Given the description of an element on the screen output the (x, y) to click on. 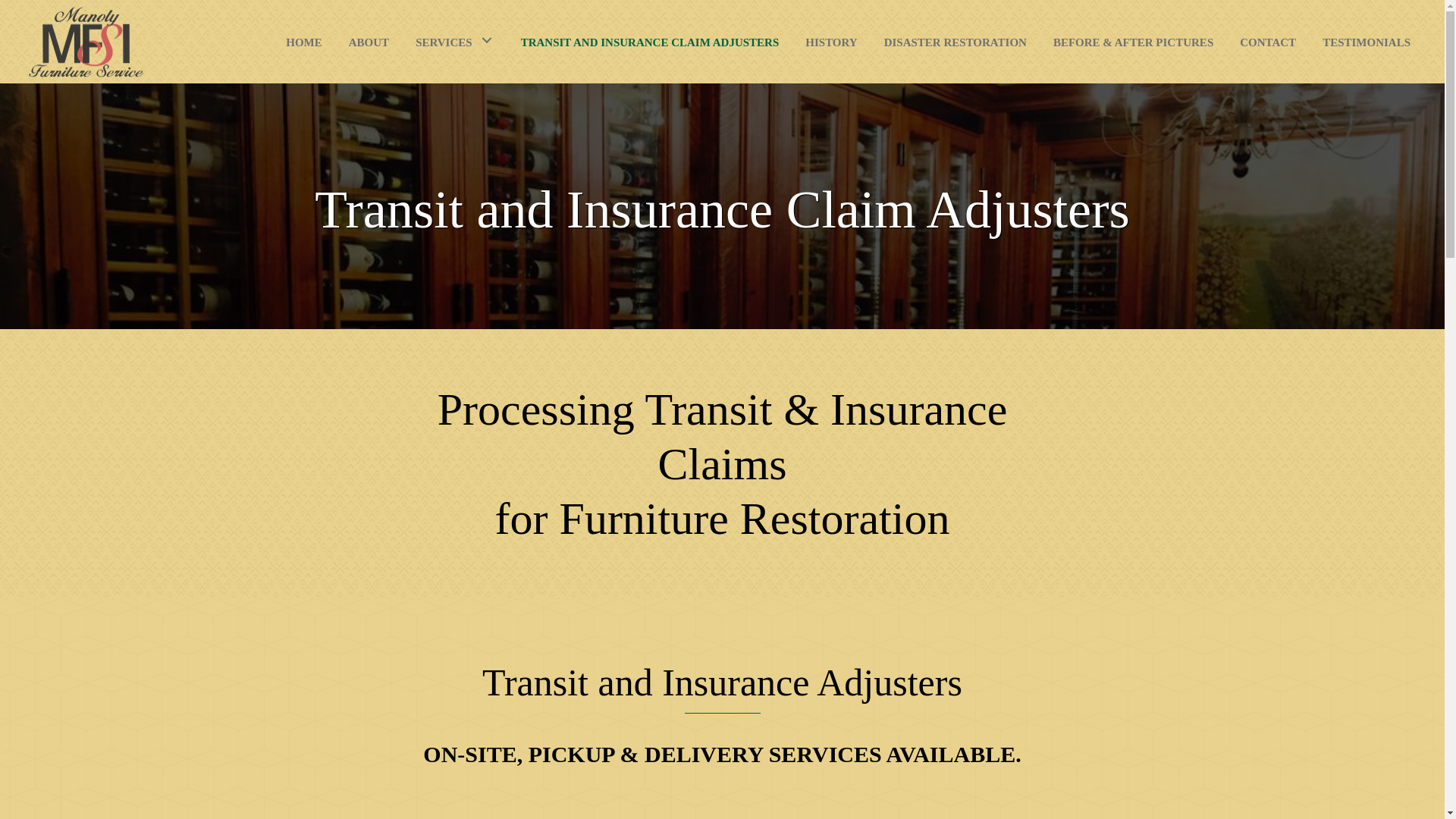
TRANSIT AND INSURANCE CLAIM ADJUSTERS (649, 40)
SERVICES (454, 40)
TESTIMONIALS (1366, 40)
DISASTER RESTORATION (955, 40)
HOME (304, 40)
ABOUT (368, 40)
CONTACT (1267, 40)
logo (87, 41)
HISTORY (830, 40)
